Given the description of an element on the screen output the (x, y) to click on. 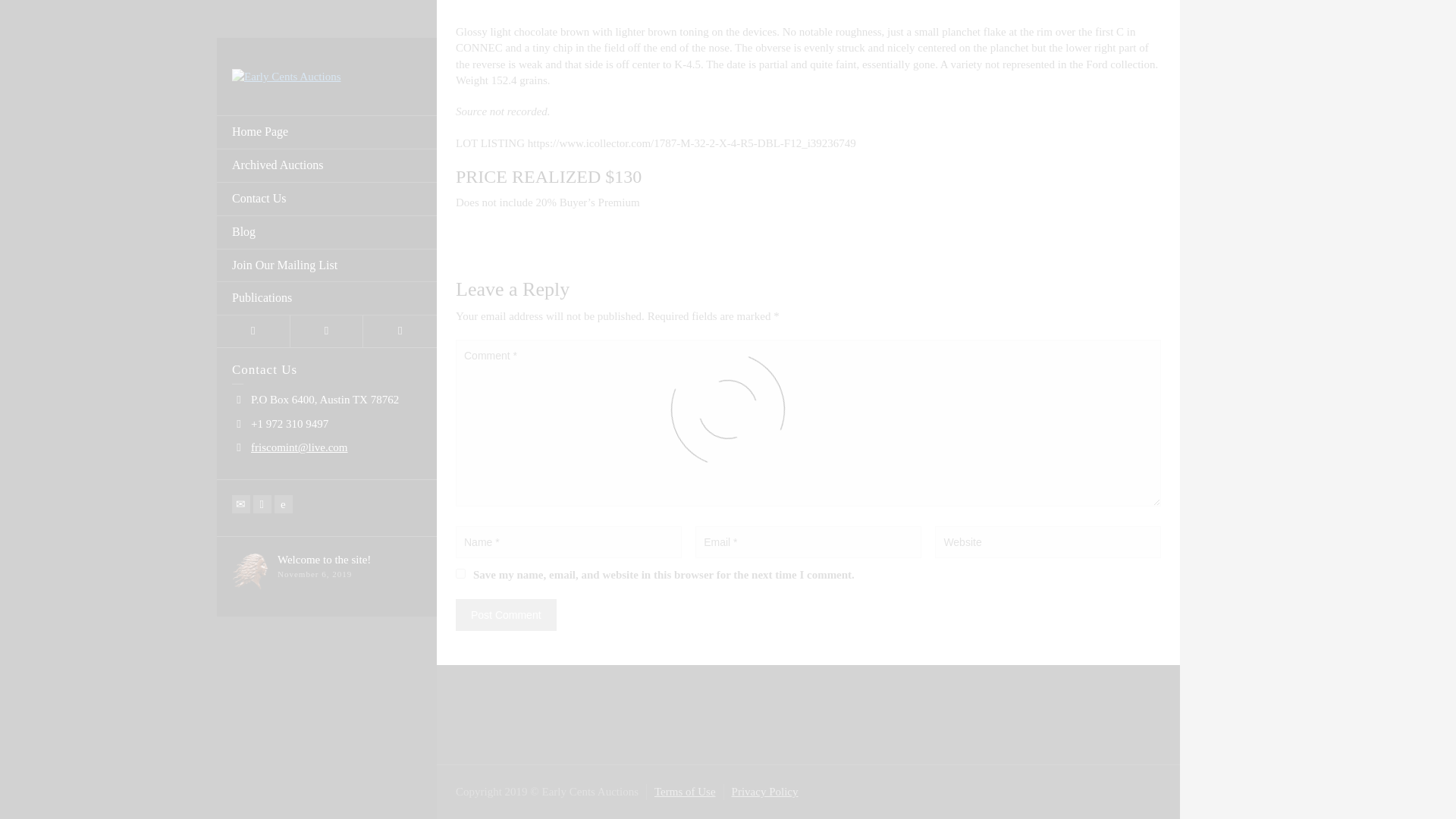
Post Comment (505, 614)
Facebook (261, 18)
Welcome to the site! (324, 73)
eBay (283, 18)
Email (240, 18)
Welcome to the site! (324, 73)
